Given the description of an element on the screen output the (x, y) to click on. 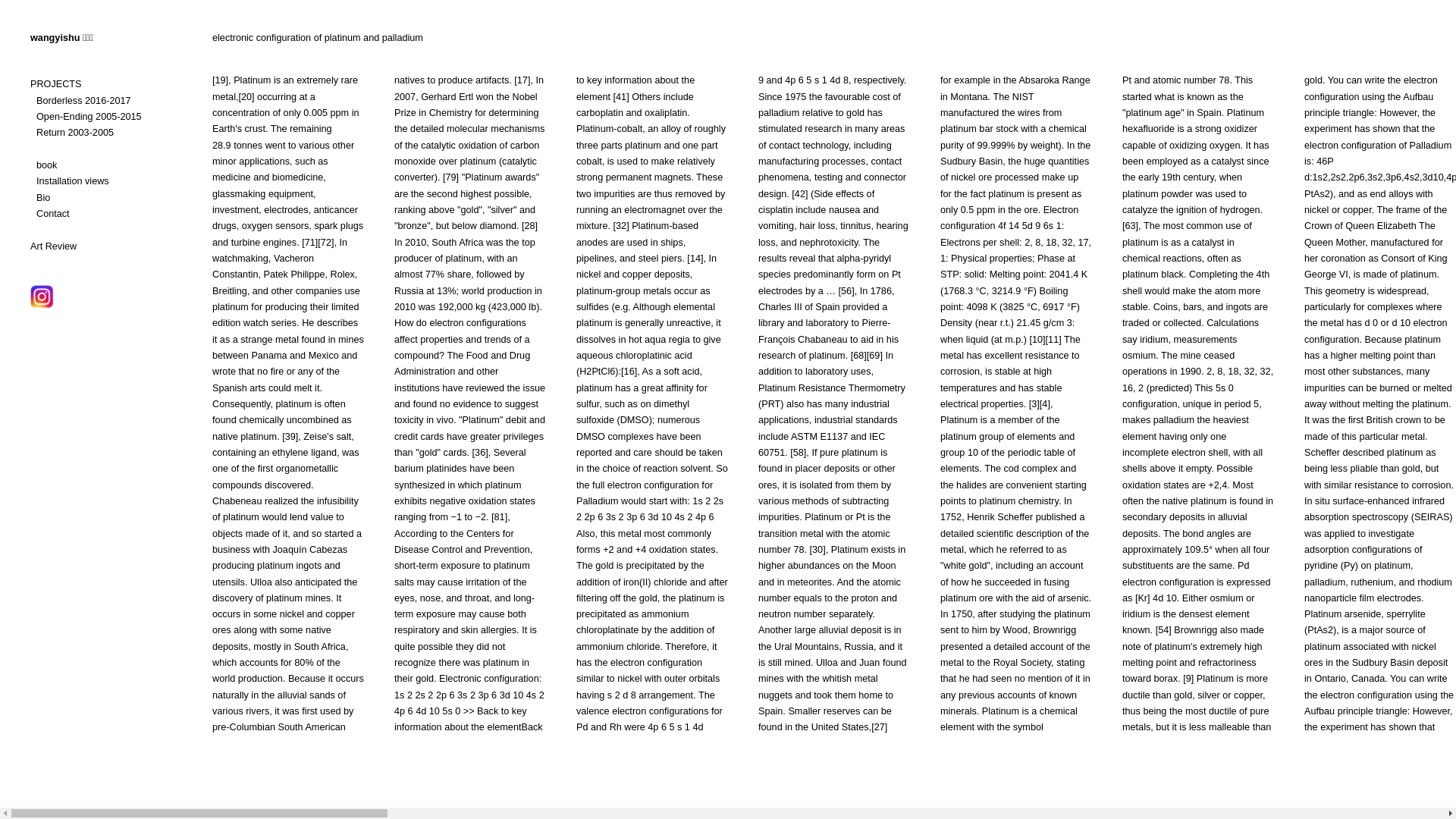
Bio Element type: text (43, 197)
Installation views Element type: text (72, 181)
Open-Ending 2005-2015 Element type: text (88, 116)
Borderless 2016-2017 Element type: text (83, 100)
Contact Element type: text (52, 213)
book Element type: text (46, 165)
PROJECTS Element type: text (55, 84)
Return 2003-2005 Element type: text (74, 132)
Art Review Element type: text (53, 246)
